Given the description of an element on the screen output the (x, y) to click on. 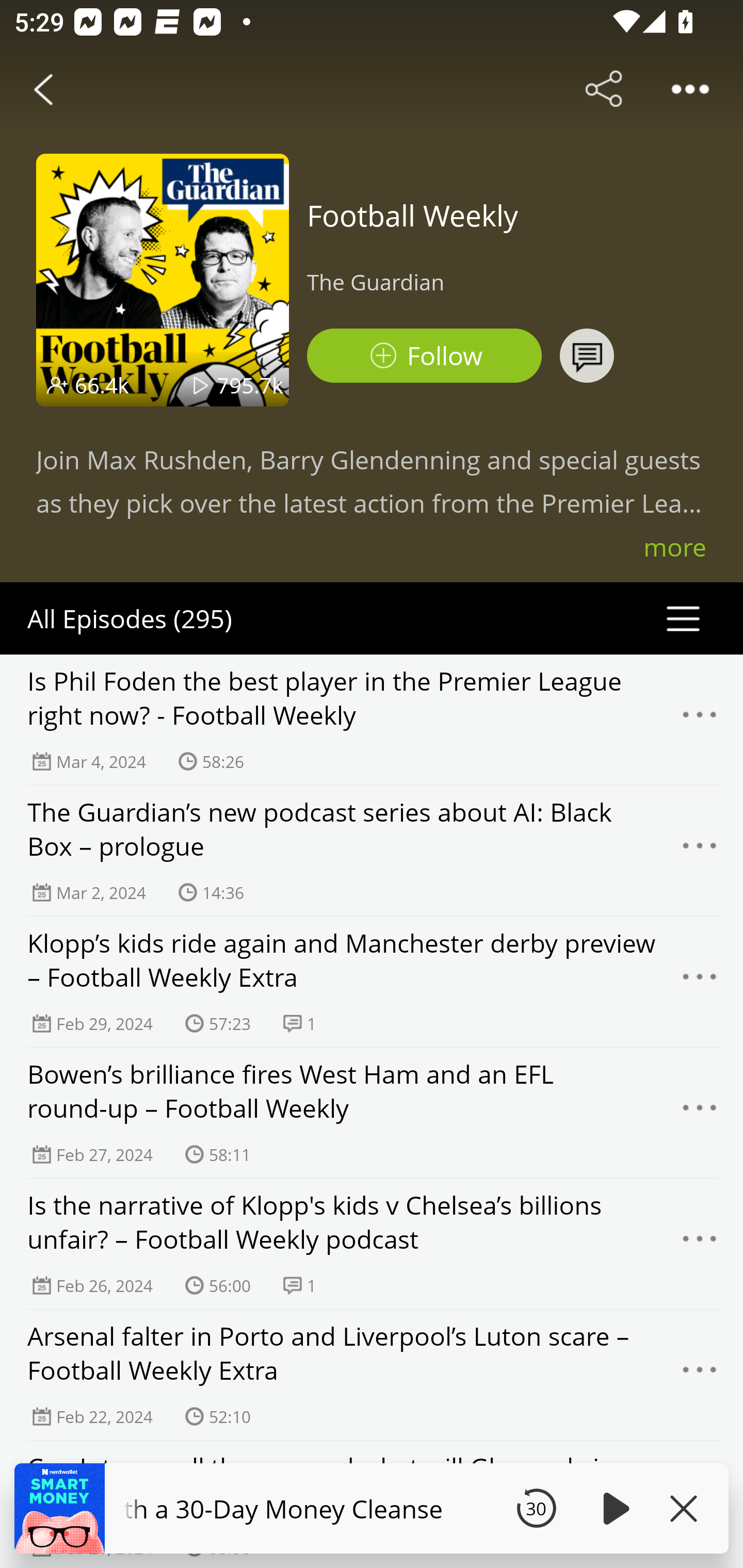
Back (43, 88)
Podbean Follow (423, 355)
66.4k (102, 384)
more (674, 546)
Menu (699, 720)
Menu (699, 850)
Menu (699, 982)
Menu (699, 1113)
Menu (699, 1244)
Menu (699, 1375)
Menu (699, 1505)
Play (613, 1507)
30 Seek Backward (536, 1508)
